Given the description of an element on the screen output the (x, y) to click on. 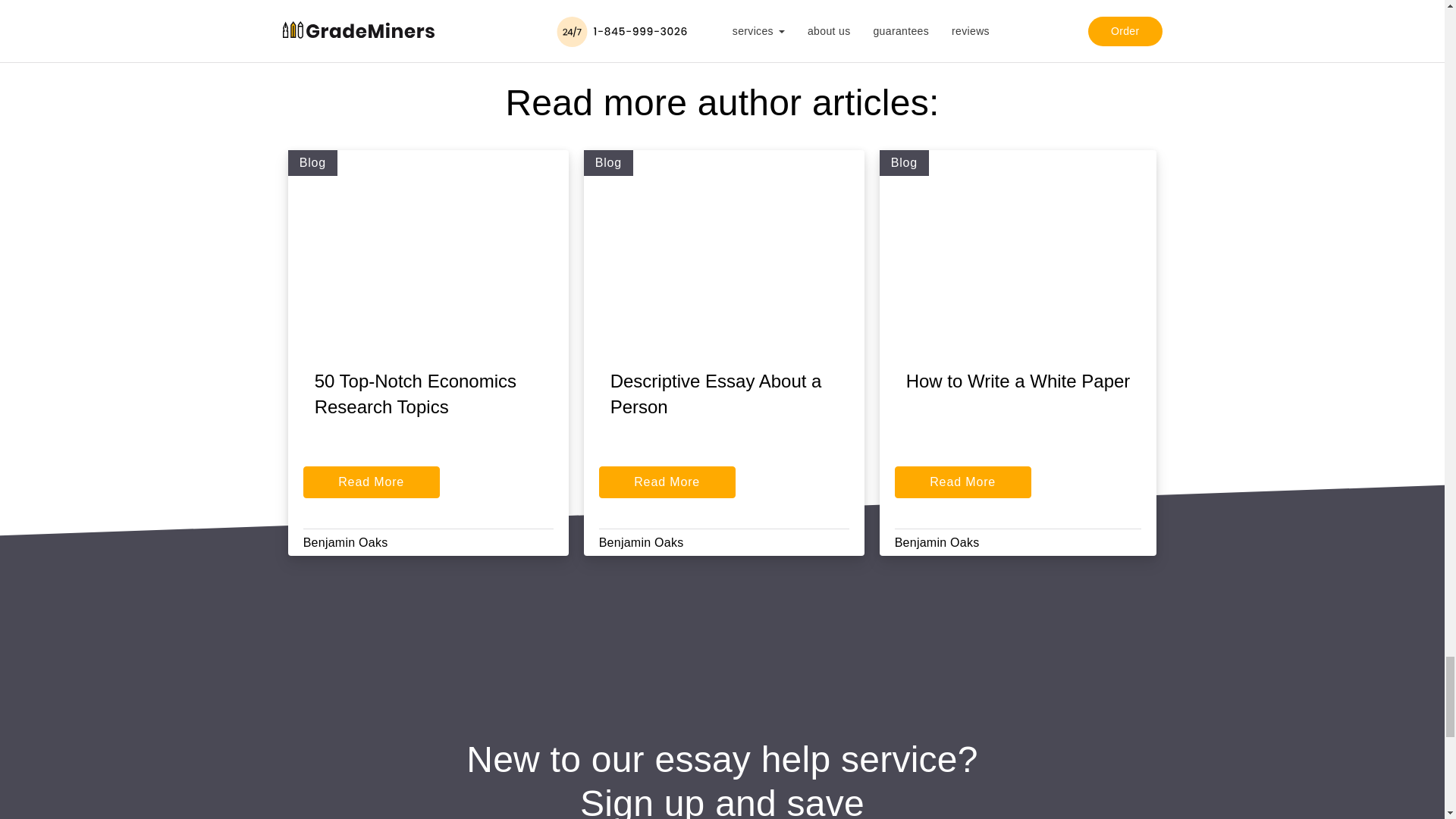
Posts by Benjamin Oaks (345, 542)
